Given the description of an element on the screen output the (x, y) to click on. 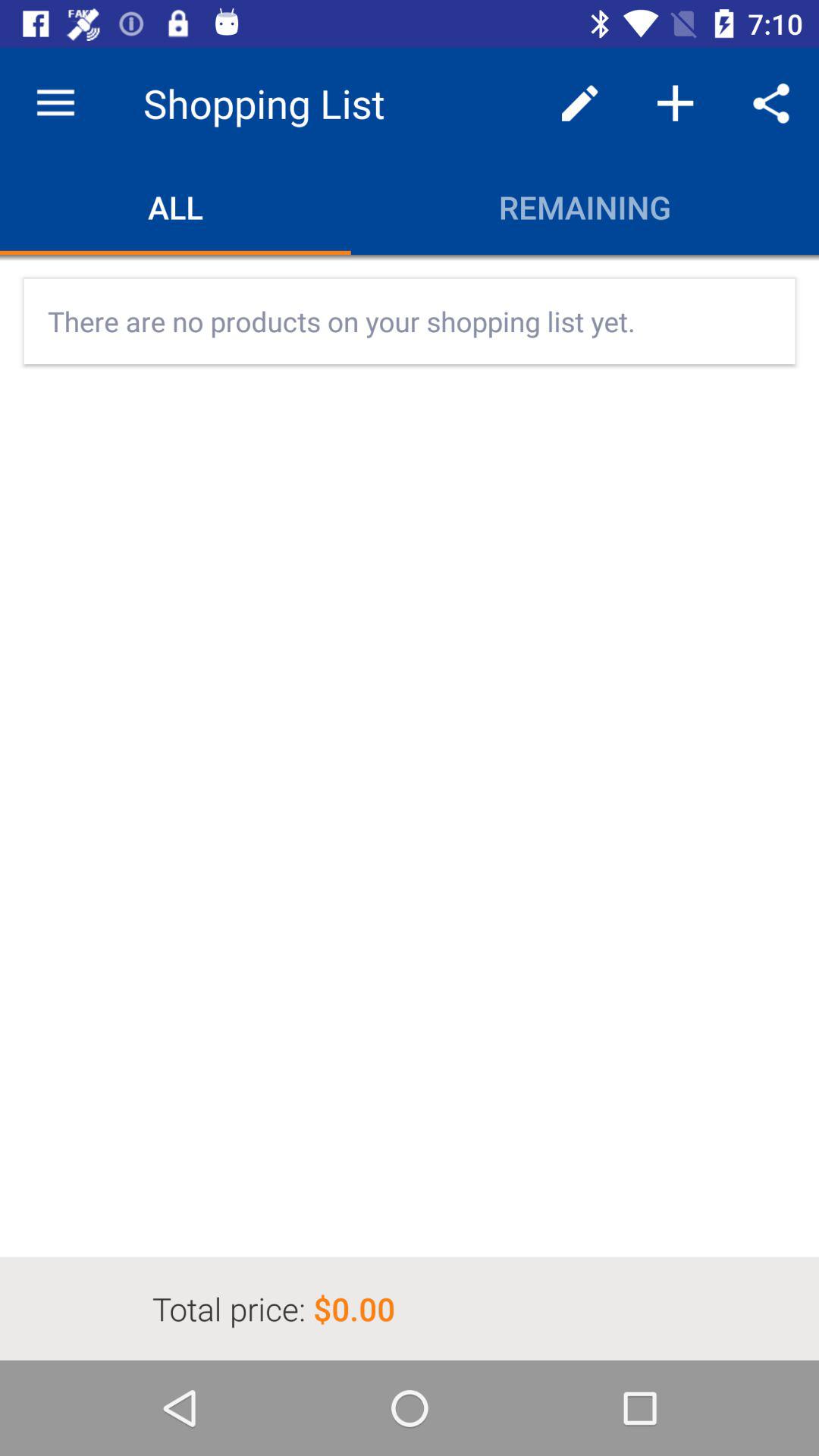
turn on the app to the right of the shopping list icon (579, 103)
